Given the description of an element on the screen output the (x, y) to click on. 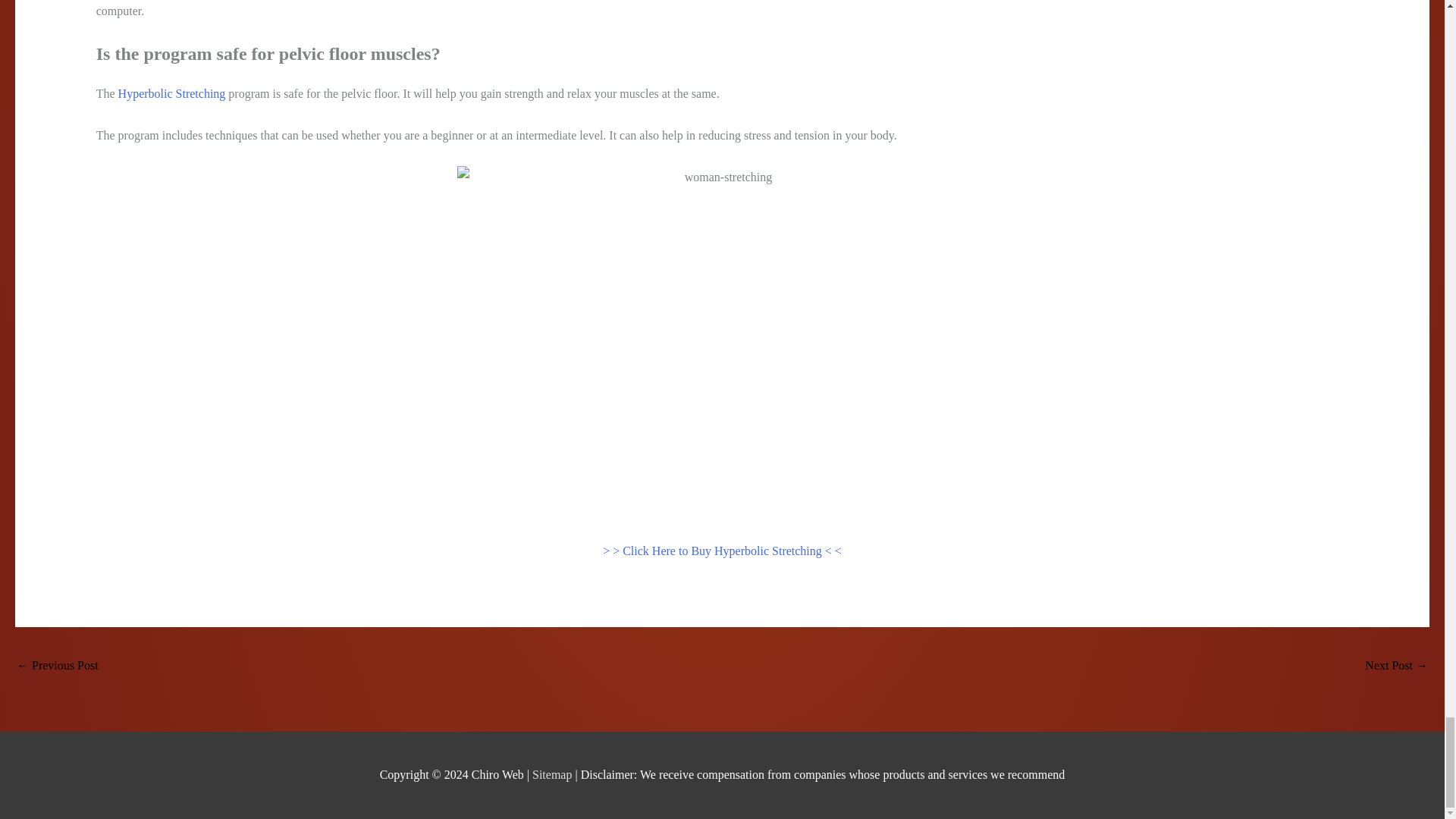
Hyperbolic Stretching (171, 92)
Sitemap (553, 774)
Hyperbolic Stretching Buy (1396, 666)
Hyperbolic Stretching Program Reviews (57, 666)
